Given the description of an element on the screen output the (x, y) to click on. 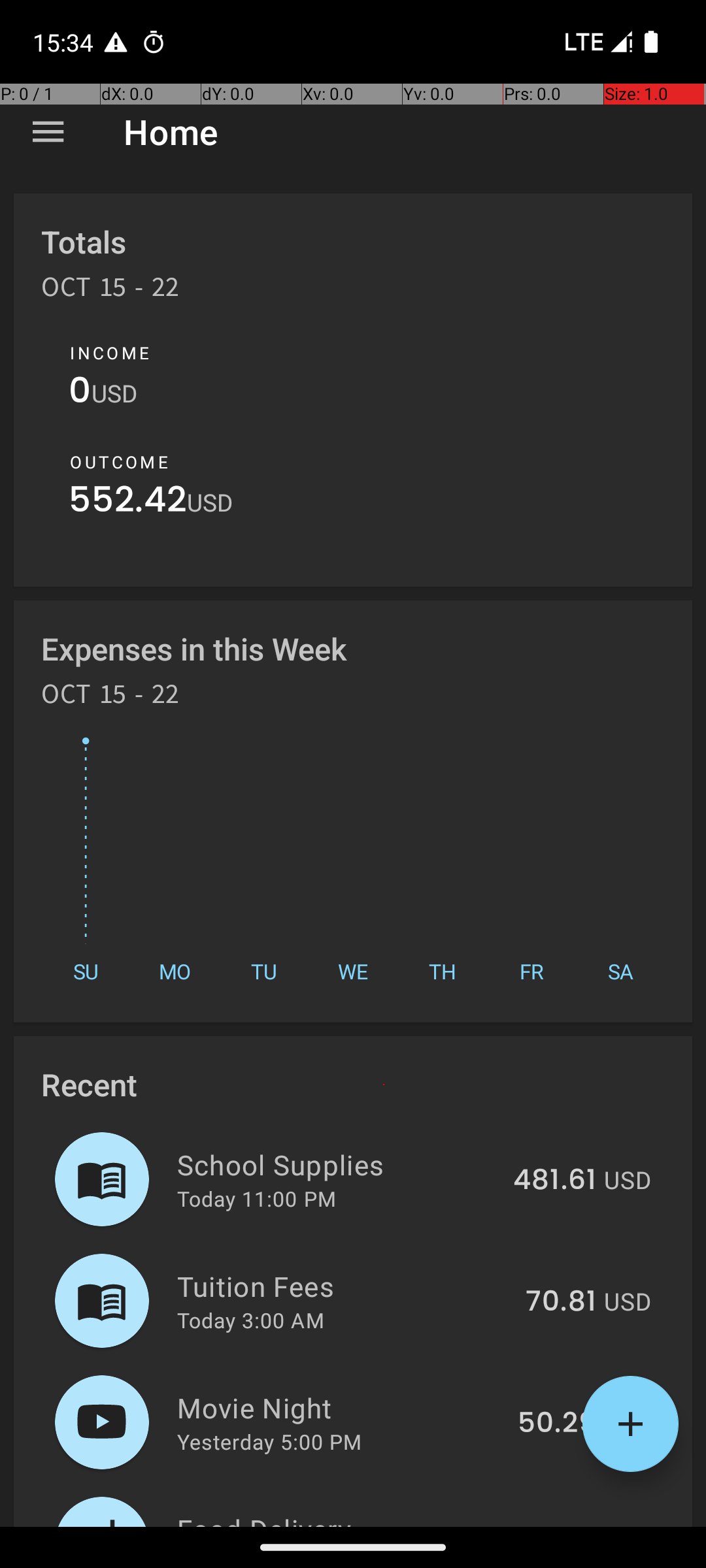
552.42 Element type: android.widget.TextView (127, 502)
School Supplies Element type: android.widget.TextView (337, 1164)
Today 11:00 PM Element type: android.widget.TextView (256, 1198)
481.61 Element type: android.widget.TextView (554, 1180)
Tuition Fees Element type: android.widget.TextView (343, 1285)
Today 3:00 AM Element type: android.widget.TextView (250, 1320)
70.81 Element type: android.widget.TextView (560, 1301)
Movie Night Element type: android.widget.TextView (339, 1407)
Yesterday 5:00 PM Element type: android.widget.TextView (269, 1441)
50.29 Element type: android.widget.TextView (556, 1423)
Food Delivery Element type: android.widget.TextView (331, 1518)
324.08 Element type: android.widget.TextView (548, 1524)
